Given the description of an element on the screen output the (x, y) to click on. 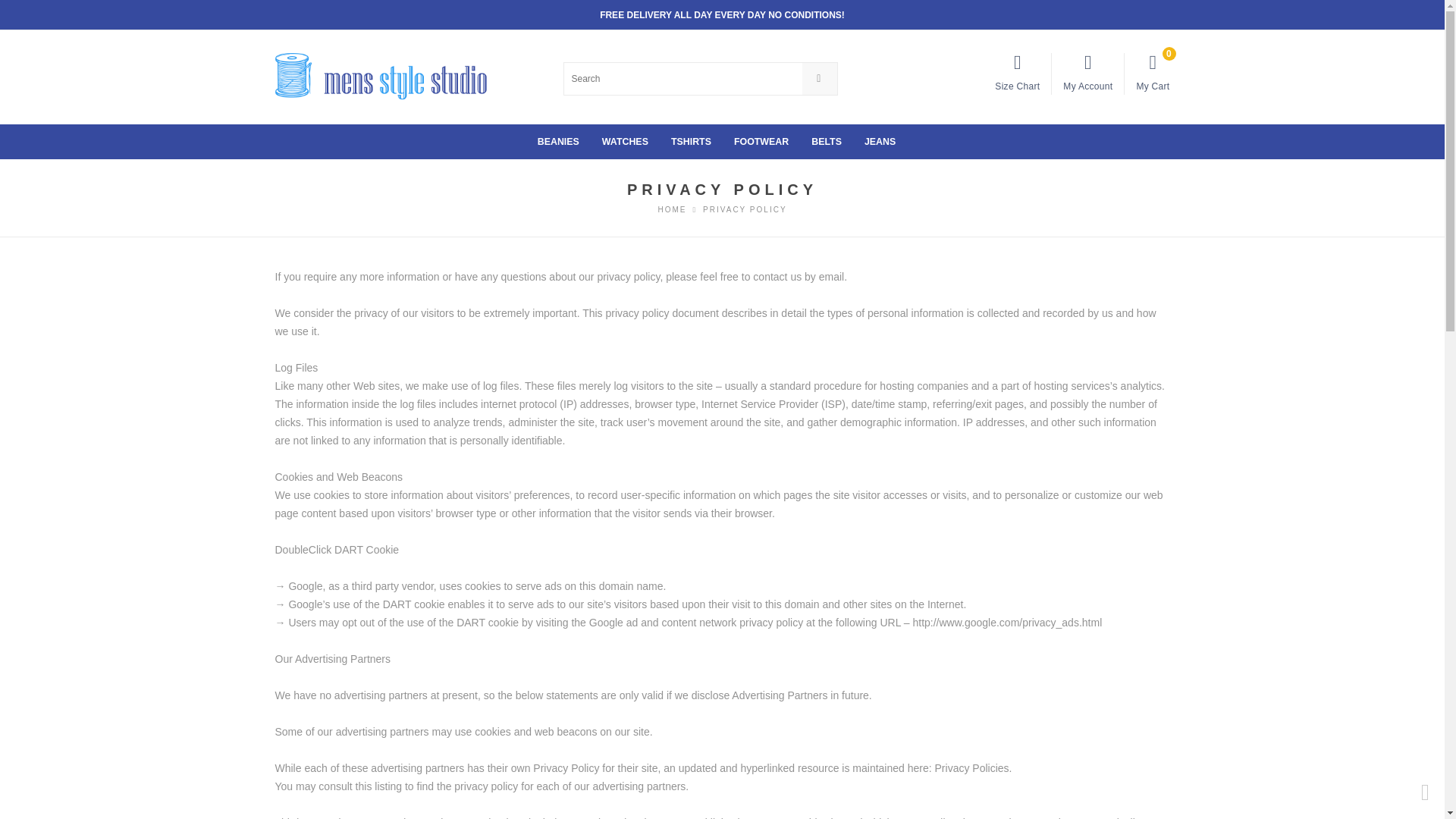
Size Chart (1016, 71)
HOME (671, 209)
BEANIES (558, 141)
Mens Style Studio (671, 209)
WATCHES (624, 141)
JEANS (879, 141)
FREE DELIVERY ALL DAY EVERY DAY NO CONDITIONS! (721, 14)
TSHIRTS (691, 141)
My Account (1087, 71)
FOOTWEAR (761, 141)
